Given the description of an element on the screen output the (x, y) to click on. 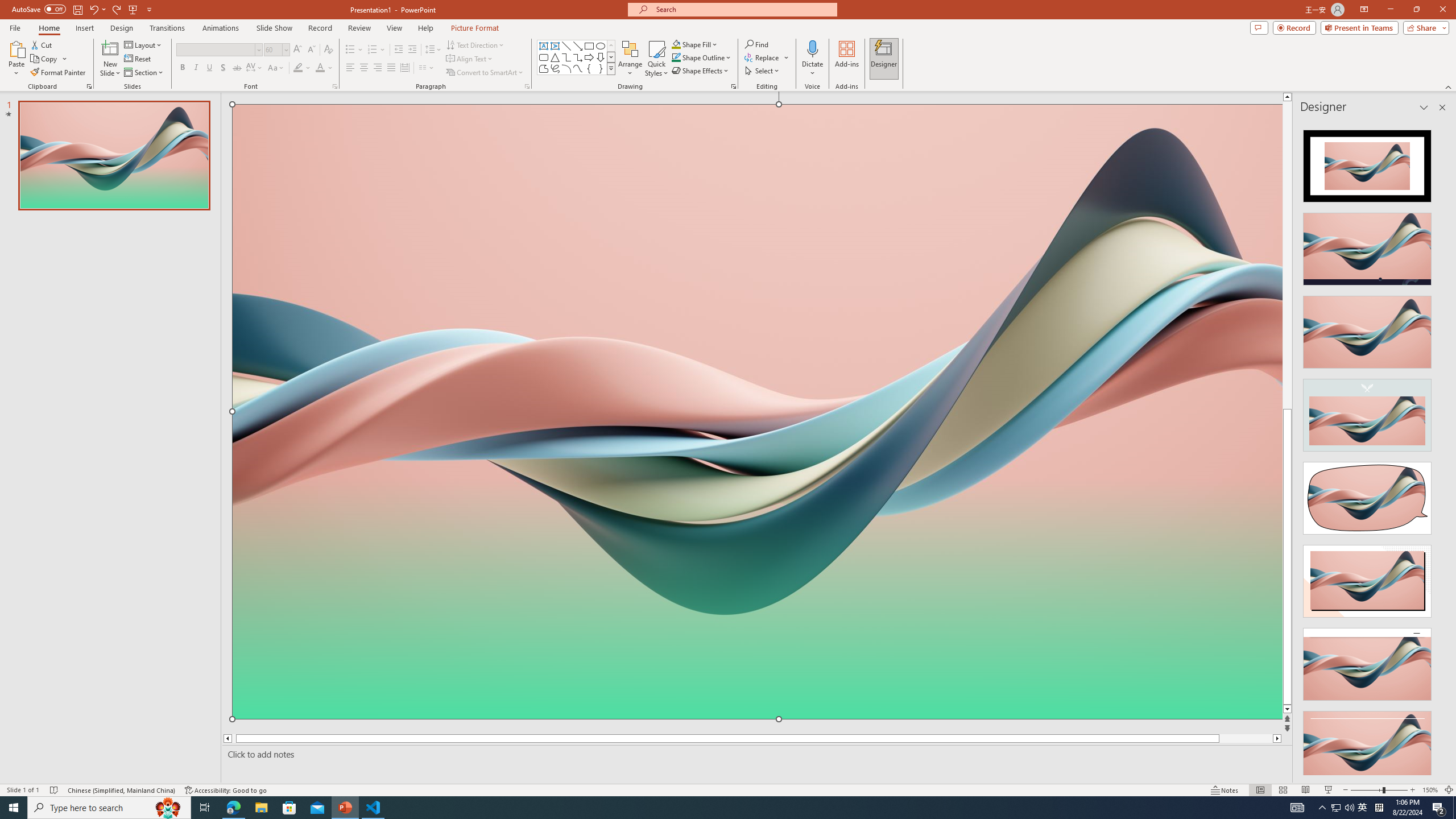
Design Idea (1366, 743)
Accessibility Checker Accessibility: Good to go (226, 790)
